Given the description of an element on the screen output the (x, y) to click on. 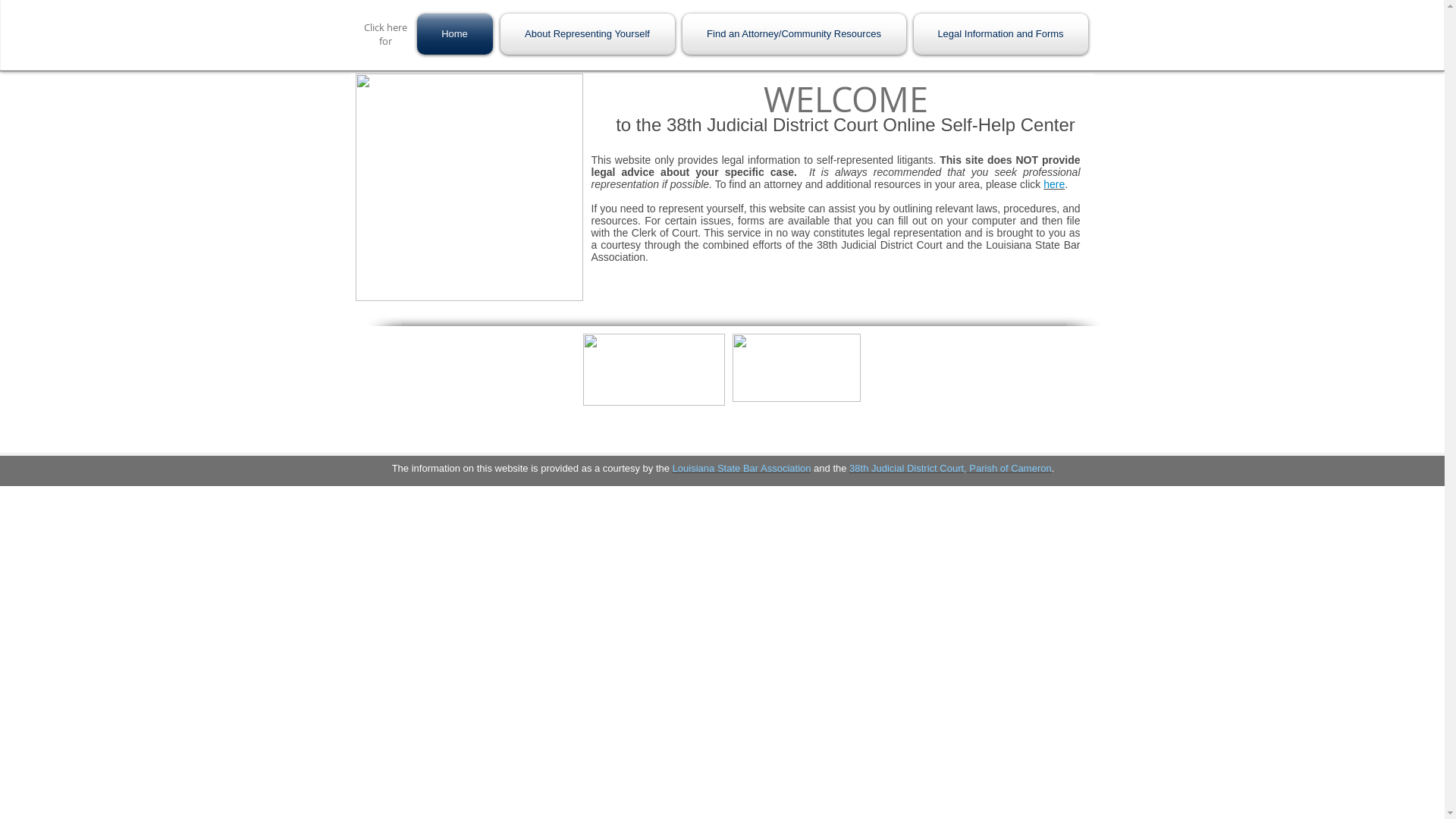
Legal Information and Forms Element type: text (999, 33)
Louisiana State Bar Association Element type: text (741, 467)
here Element type: text (1053, 184)
Home Element type: text (456, 33)
38th Judicial District Court, Parish of Cameron Element type: text (950, 467)
About Representing Yourself Element type: text (586, 33)
Find an Attorney/Community Resources Element type: text (793, 33)
